Given the description of an element on the screen output the (x, y) to click on. 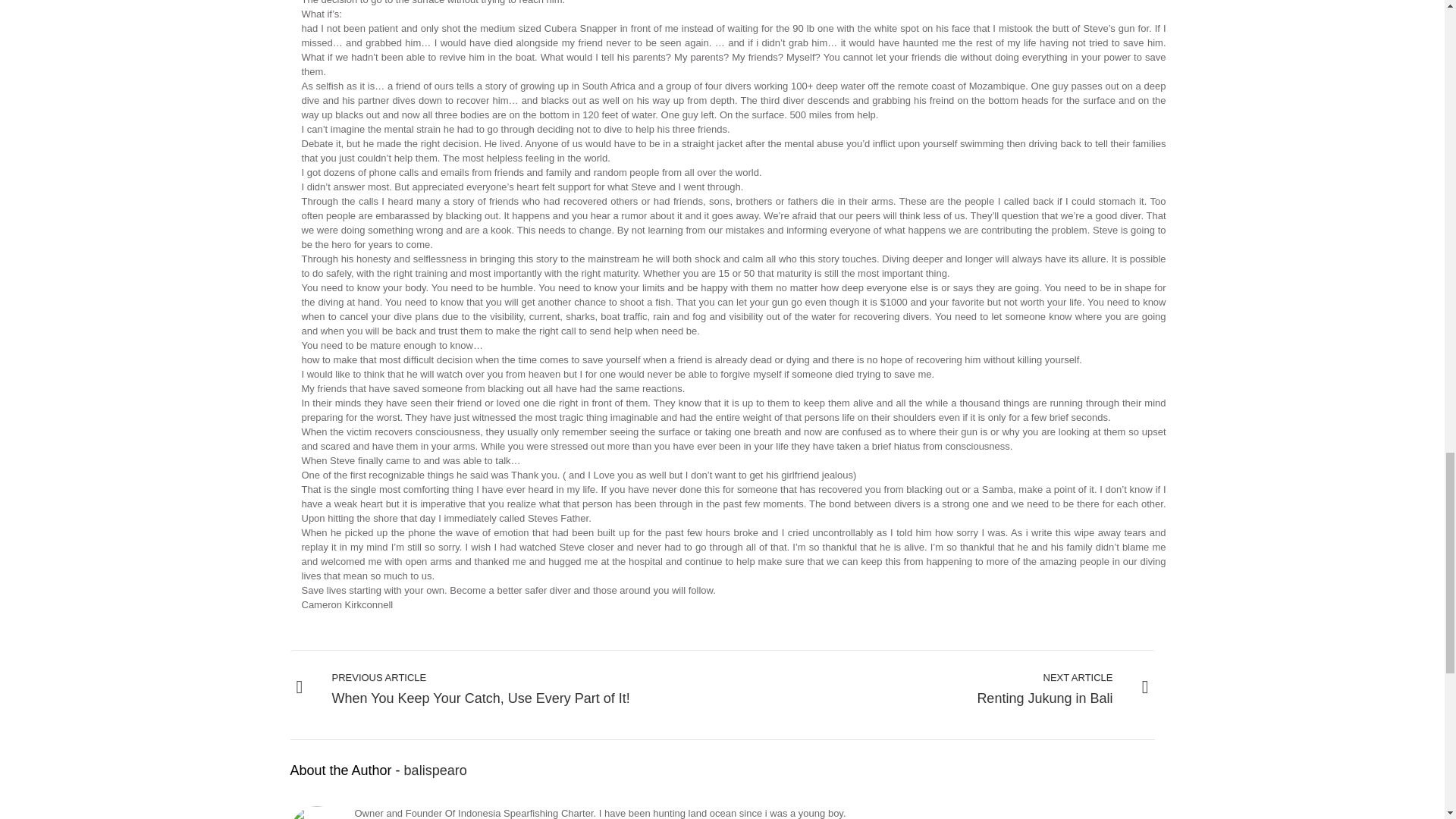
Posts by balispearo (435, 770)
balispearo (937, 689)
